Given the description of an element on the screen output the (x, y) to click on. 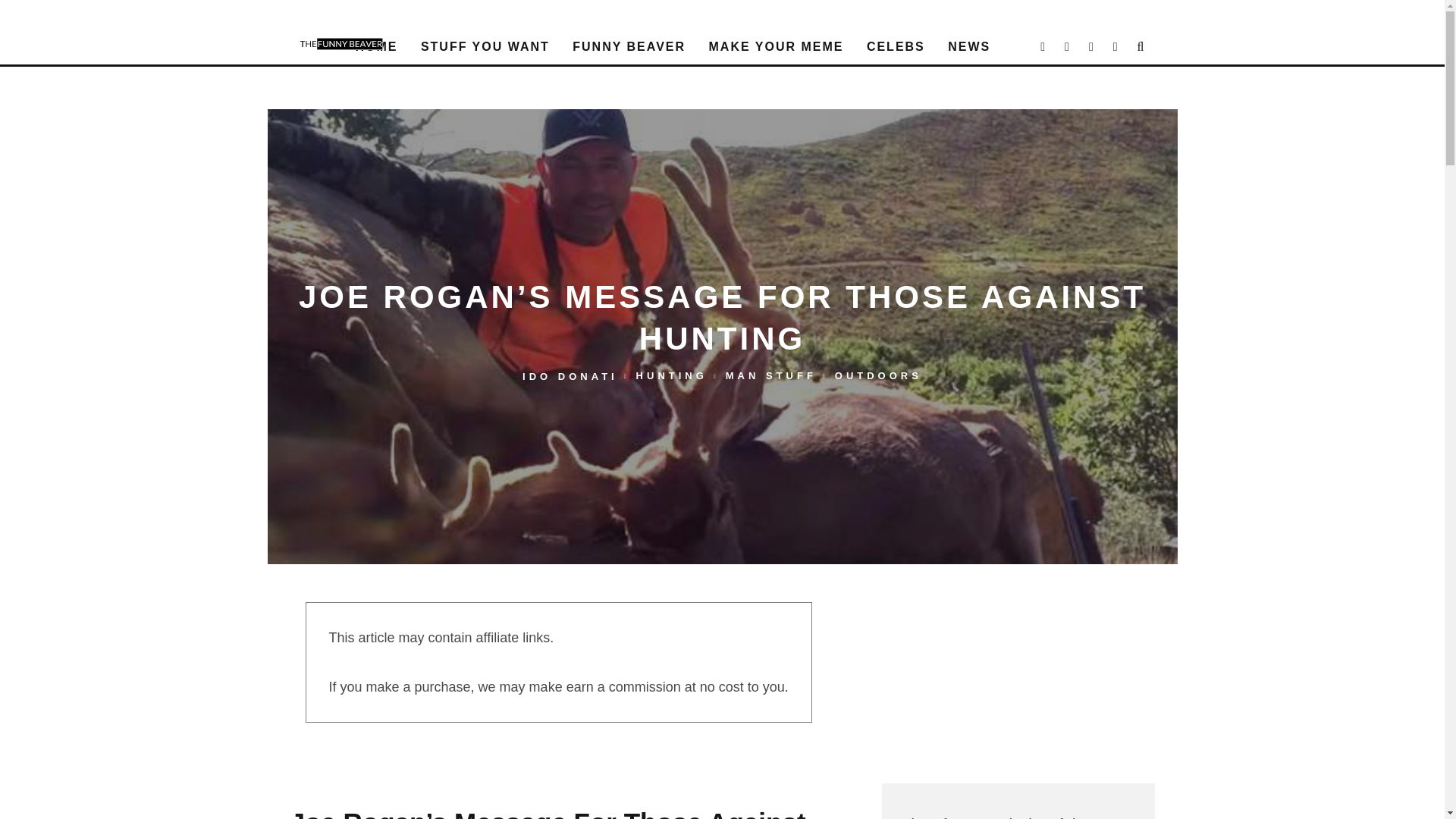
View all posts in Outdoors (877, 376)
Search (1141, 47)
View all posts in Man Stuff (770, 376)
View all posts in Hunting (671, 376)
